Given the description of an element on the screen output the (x, y) to click on. 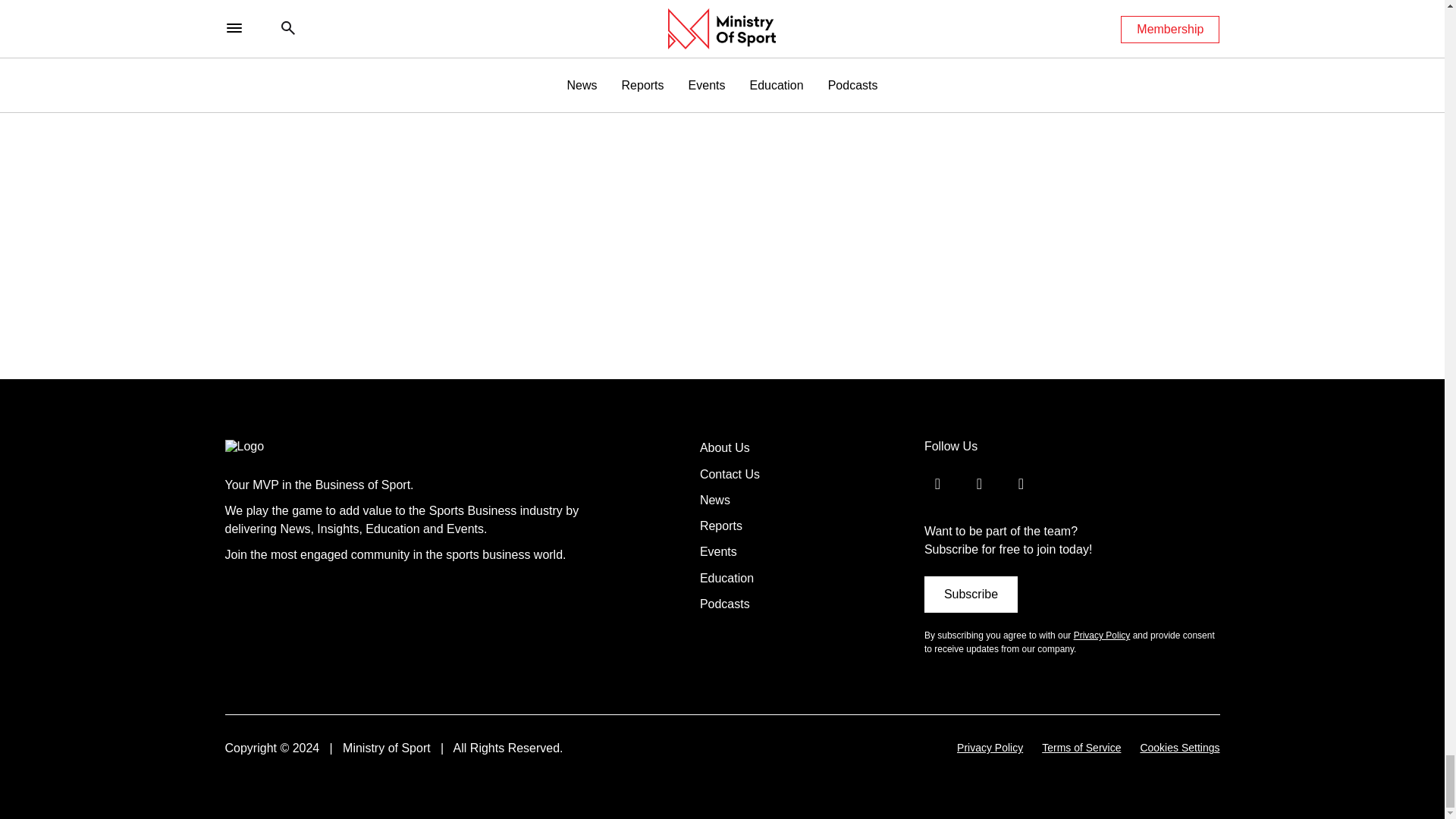
Ministry of Sport (275, 446)
